Given the description of an element on the screen output the (x, y) to click on. 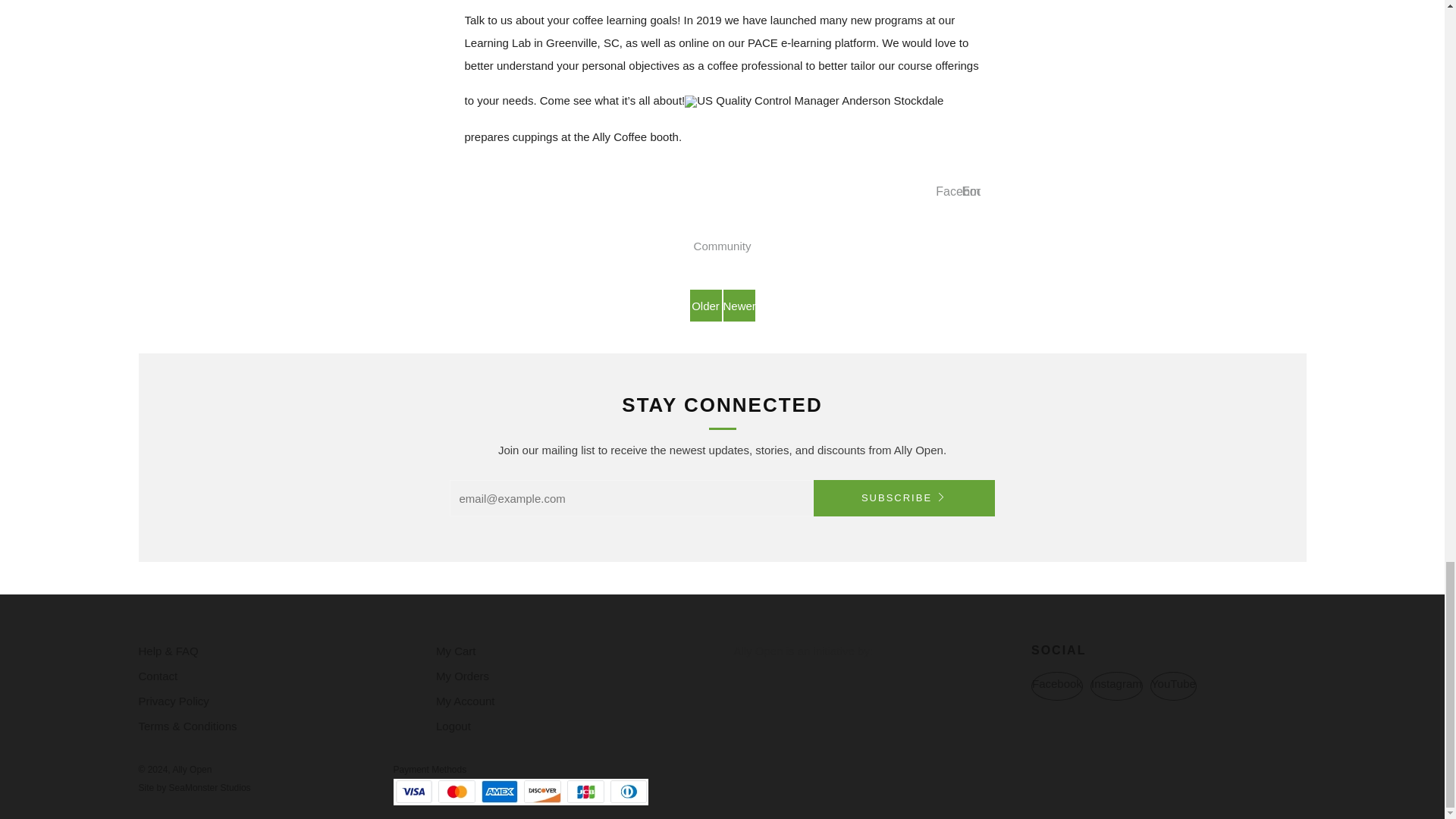
Seattle based web design and development (209, 787)
Contact (157, 675)
SUBSCRIBE (903, 497)
Show articles tagged Community (722, 245)
Newer Post (739, 305)
Older Post (706, 305)
Community (722, 245)
Email (975, 192)
Facebook (962, 192)
